Given the description of an element on the screen output the (x, y) to click on. 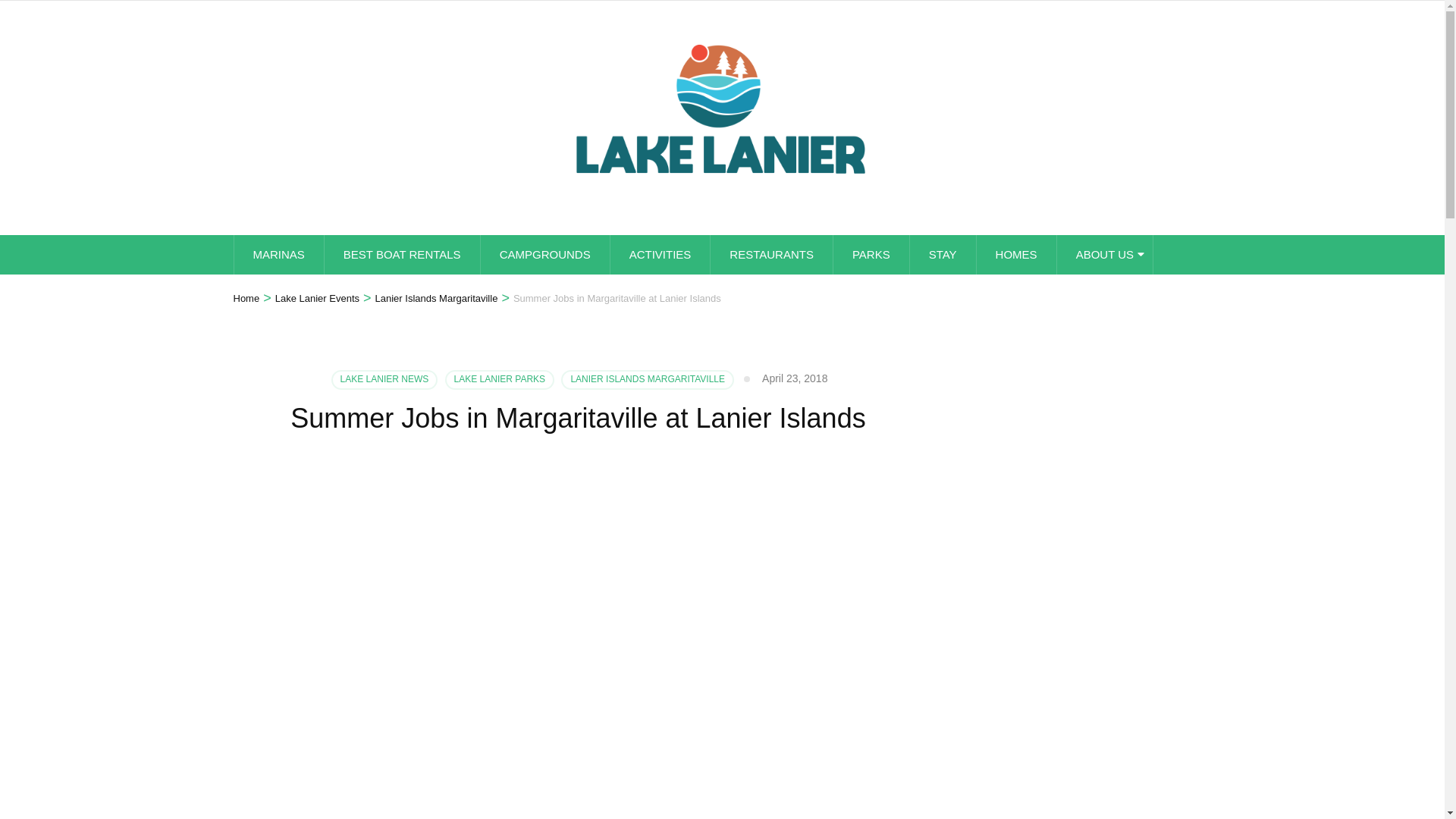
CAMPGROUNDS (545, 254)
Summer Jobs in Margaritaville at Lanier Islands (616, 298)
Lake Lanier Events (317, 298)
LAKE LANIER NEWS (384, 379)
BEST BOAT RENTALS (402, 254)
STAY (942, 254)
RESTAURANTS (771, 254)
April 23, 2018 (794, 378)
HOMES (1016, 254)
ACTIVITIES (660, 254)
LANIER ISLANDS MARGARITAVILLE (646, 379)
Home (246, 298)
Lanier Islands Margaritaville (436, 298)
ABOUT US (1105, 254)
PARKS (870, 254)
